Given the description of an element on the screen output the (x, y) to click on. 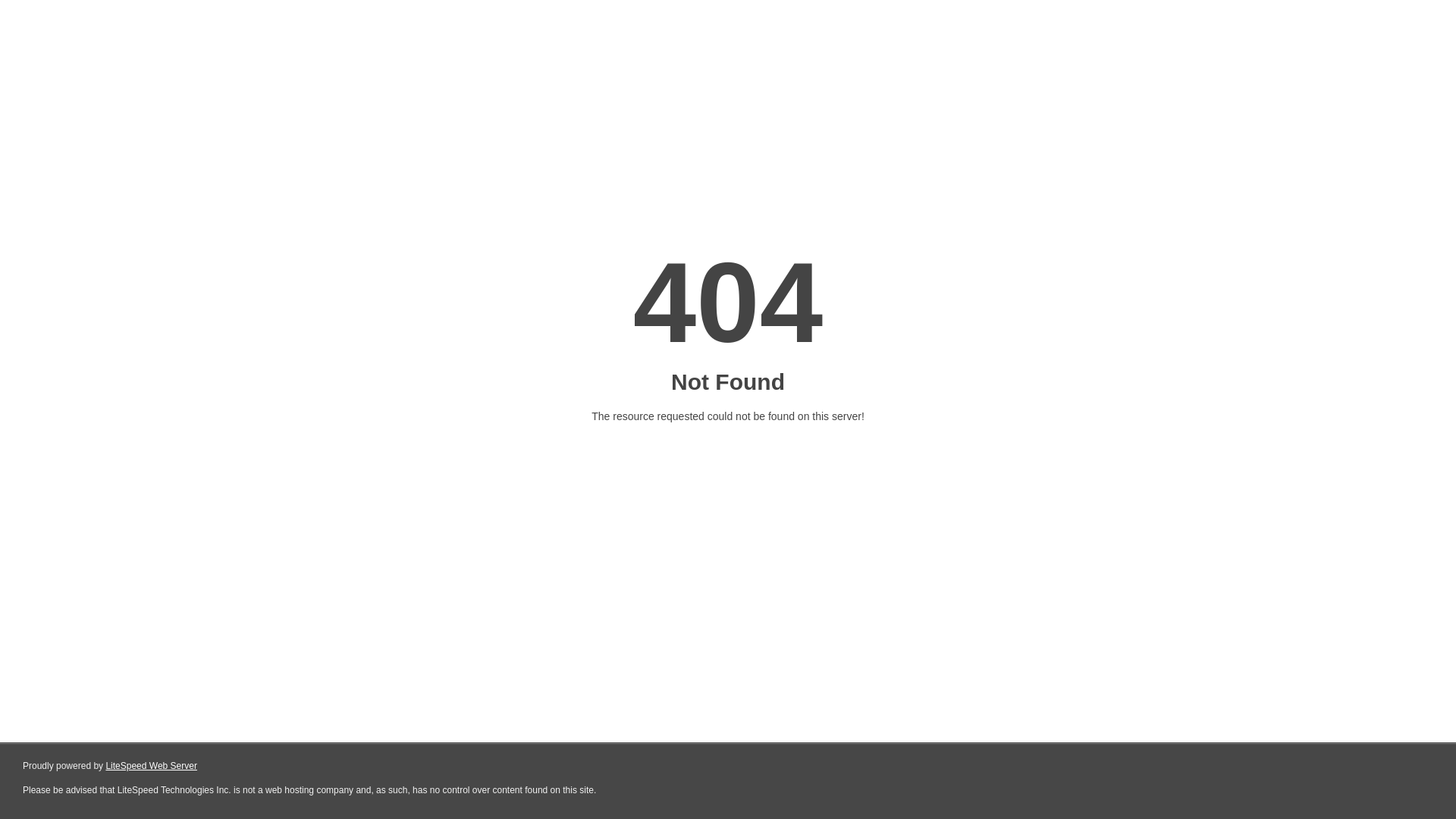
LiteSpeed Web Server Element type: text (151, 765)
